Given the description of an element on the screen output the (x, y) to click on. 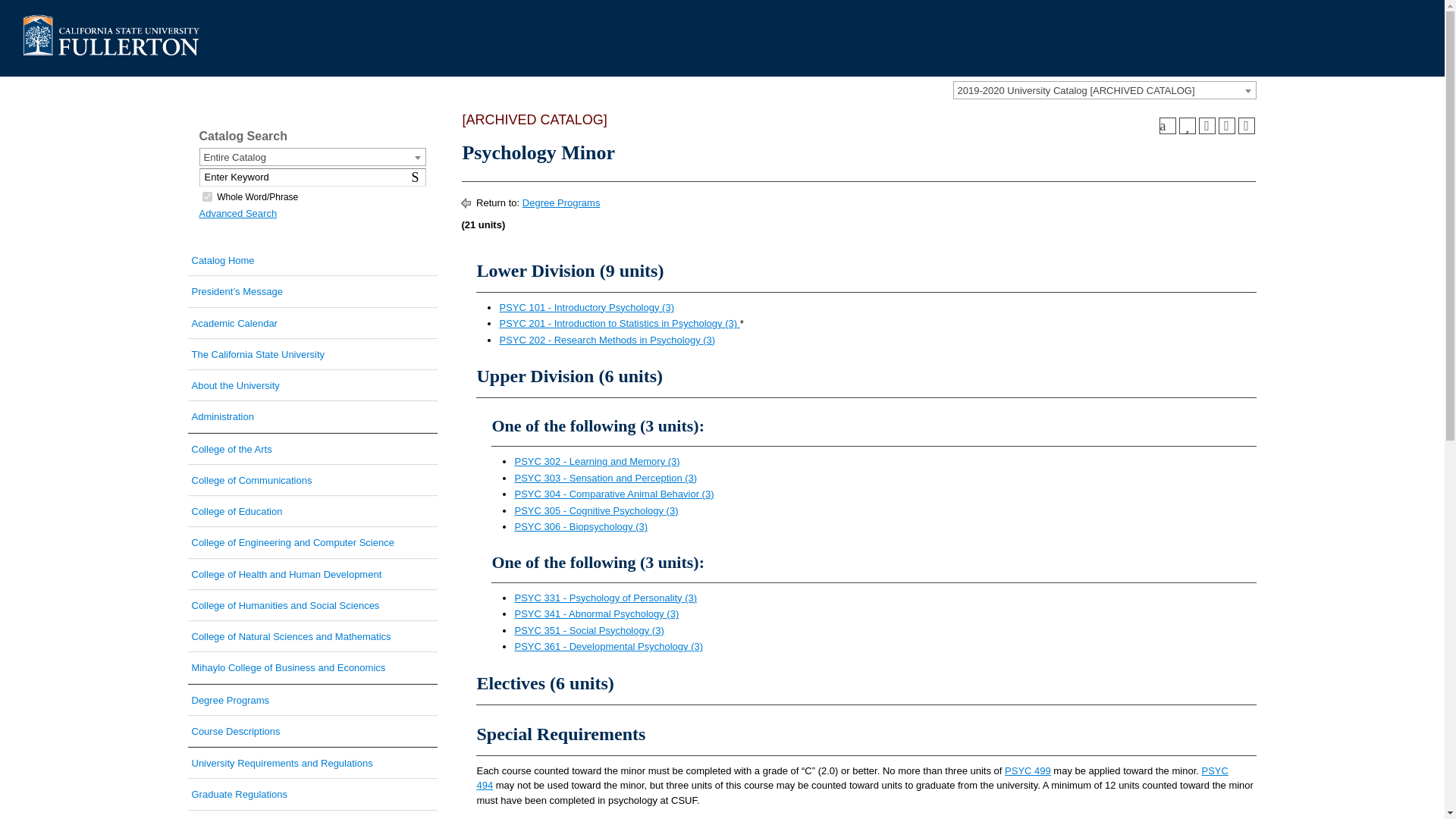
Enter Keyword   (312, 177)
Academic Calendar (312, 323)
Course Descriptions (312, 731)
Administration (312, 416)
Advanced Search (237, 213)
Graduate Regulations (312, 794)
Select a Catalog (1103, 90)
College of Humanities and Social Sciences (312, 604)
Catalog Home (312, 260)
College of Health and Human Development (312, 573)
1 (206, 196)
College of Engineering and Computer Science (312, 542)
Admissions (312, 815)
Search (417, 176)
